Given the description of an element on the screen output the (x, y) to click on. 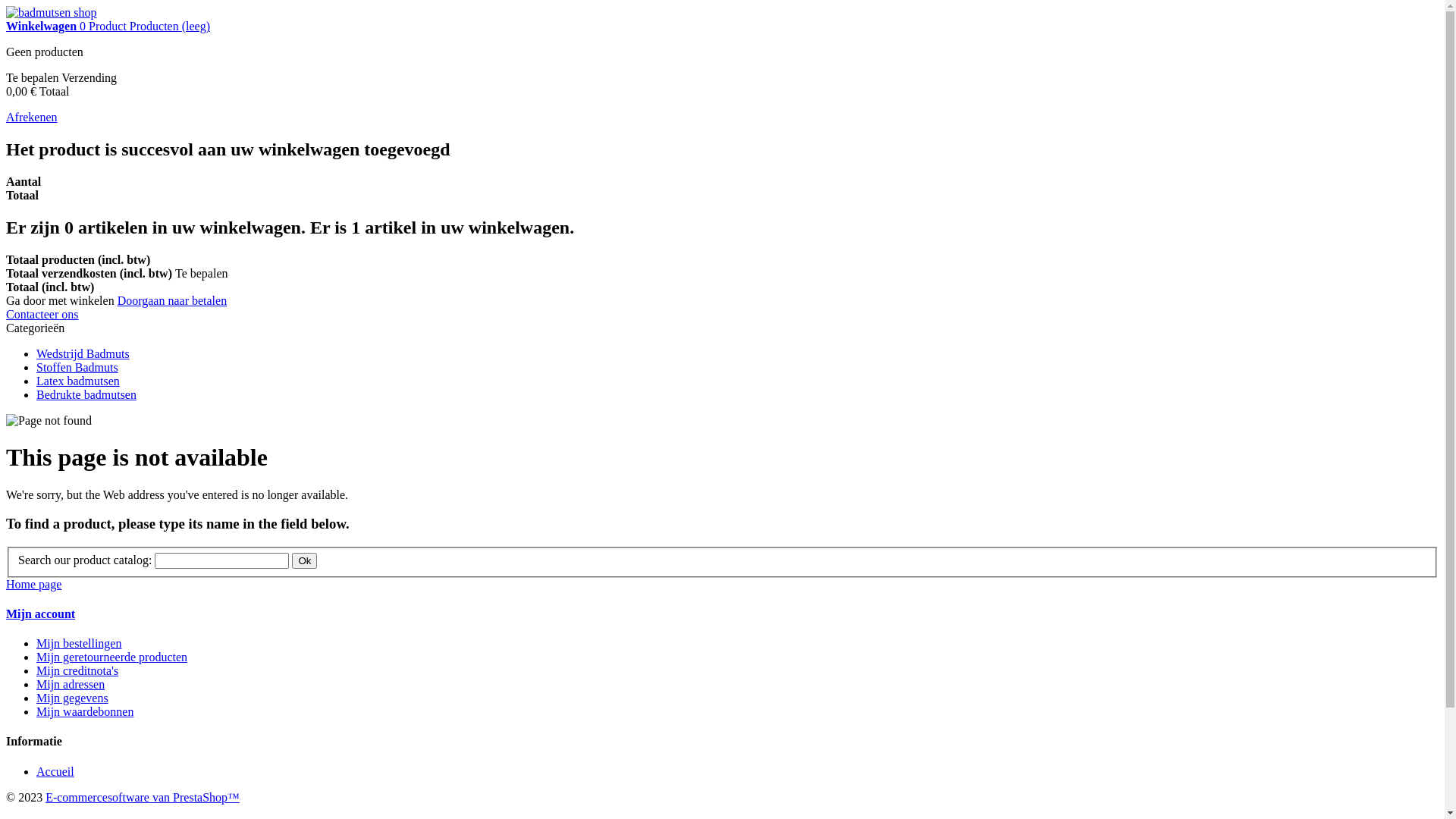
Mijn waardebonnen Element type: text (84, 711)
Mijn account Element type: text (40, 613)
Ok Element type: text (303, 560)
Wedstrijd Badmuts Element type: text (82, 353)
Mijn bestellingen Element type: text (78, 643)
Contacteer ons Element type: text (42, 313)
Mijn adressen Element type: text (70, 683)
Home page Element type: text (33, 583)
Latex badmutsen Element type: text (77, 380)
Afrekenen Element type: text (31, 116)
Doorgaan naar betalen Element type: text (172, 300)
Winkelwagen 0 Product Producten (leeg) Element type: text (108, 25)
Mijn gegevens Element type: text (72, 697)
badmutsen shop Element type: hover (51, 12)
Stoffen Badmuts Element type: text (77, 366)
Accueil Element type: text (55, 771)
Mijn creditnota's Element type: text (77, 670)
Bedrukte badmutsen Element type: text (86, 394)
Mijn geretourneerde producten Element type: text (111, 656)
